Given the description of an element on the screen output the (x, y) to click on. 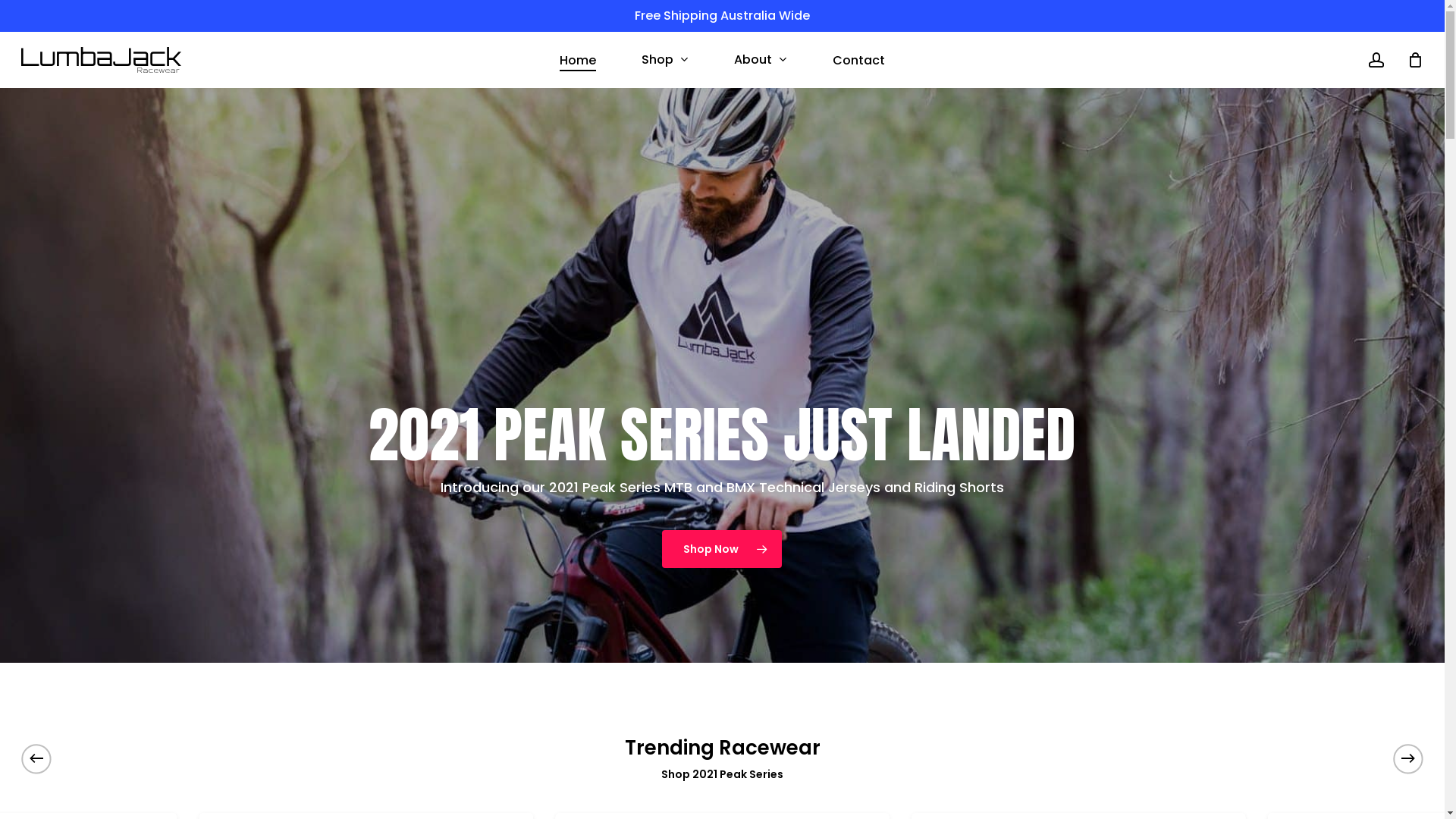
Home Element type: text (577, 59)
Contact Element type: text (858, 59)
account Element type: text (1376, 59)
Shop Now Element type: text (721, 548)
Shop Element type: text (664, 59)
About Element type: text (760, 59)
Shop 2021 Peak Series Element type: text (722, 773)
